Given the description of an element on the screen output the (x, y) to click on. 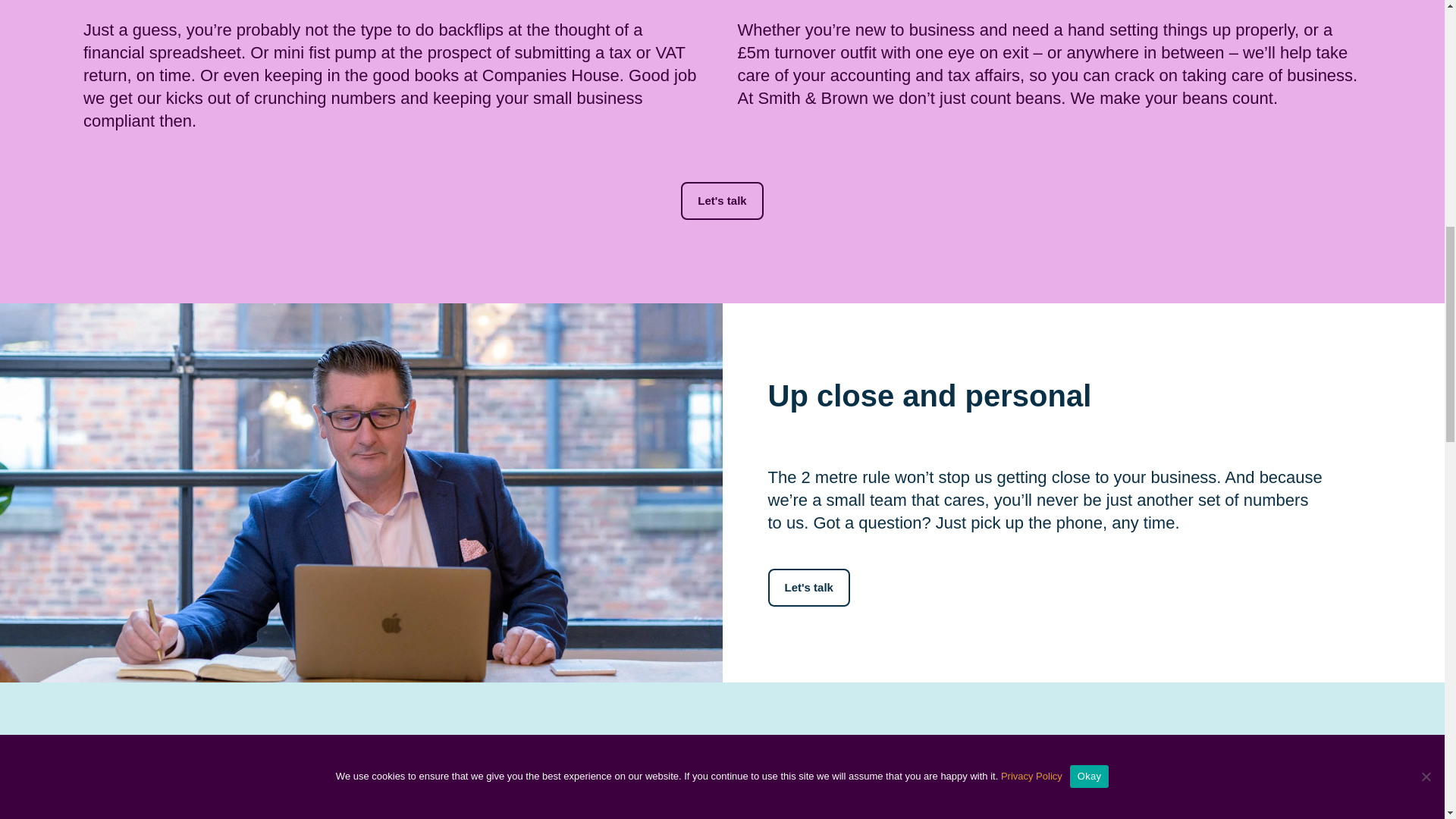
Let's talk (721, 200)
Let's talk (807, 587)
